Given the description of an element on the screen output the (x, y) to click on. 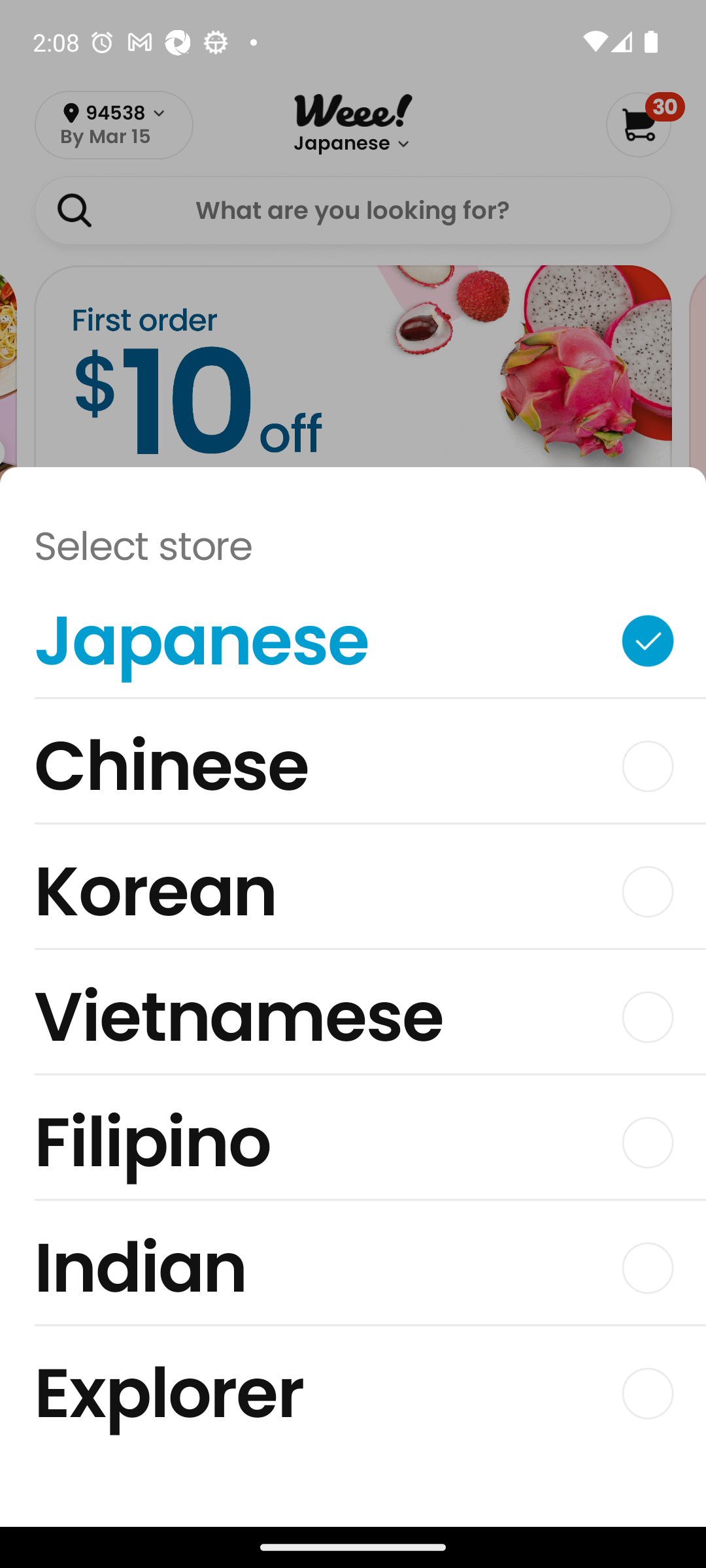
Japanese (353, 645)
Chinese (353, 771)
Korean (353, 896)
Vietnamese (353, 1022)
Filipino (353, 1147)
Indian (353, 1272)
Explorer (353, 1392)
